Given the description of an element on the screen output the (x, y) to click on. 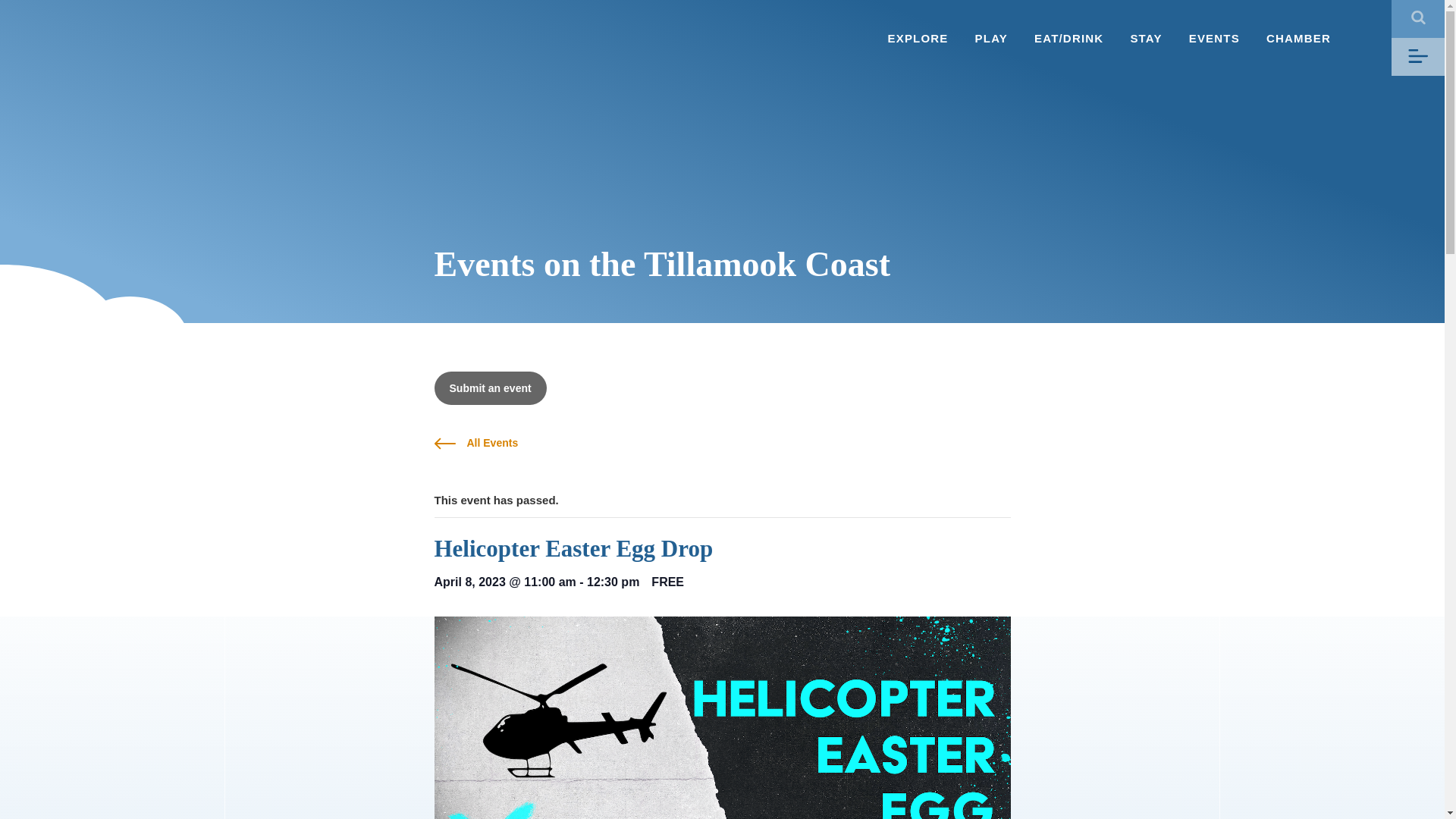
CHAMBER (1298, 38)
EXPLORE (916, 38)
VectorVector (1417, 56)
STAY (1145, 38)
Generated with Avocode.Vector (1417, 17)
EVENTS (1214, 38)
PLAY (991, 38)
